Given the description of an element on the screen output the (x, y) to click on. 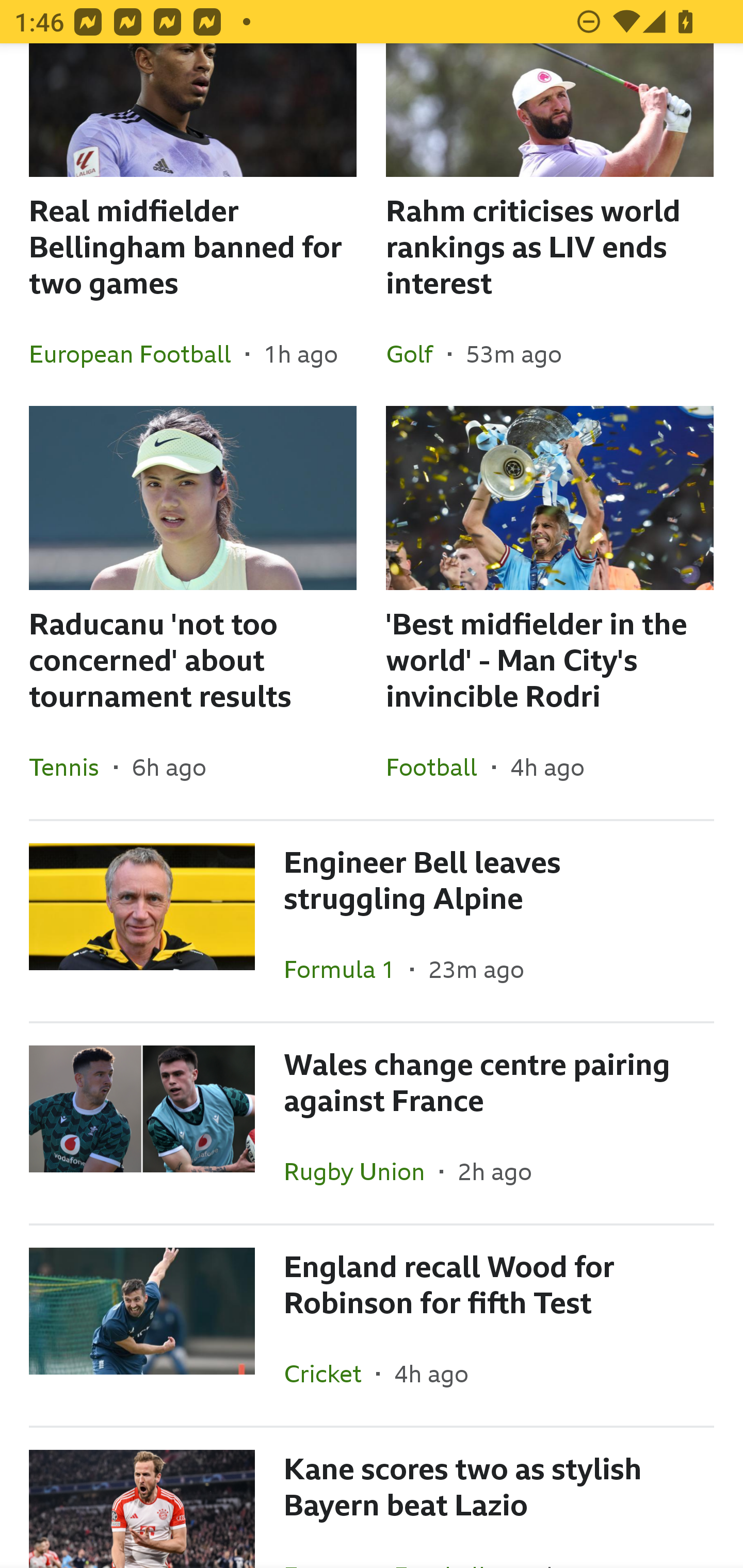
European Football In the section European Football (136, 353)
Golf In the section Golf (416, 353)
Tennis In the section Tennis (70, 766)
Football In the section Football (438, 766)
Formula 1 In the section Formula 1 (346, 968)
Rugby Union In the section Rugby Union (361, 1171)
Cricket In the section Cricket (329, 1373)
